Given the description of an element on the screen output the (x, y) to click on. 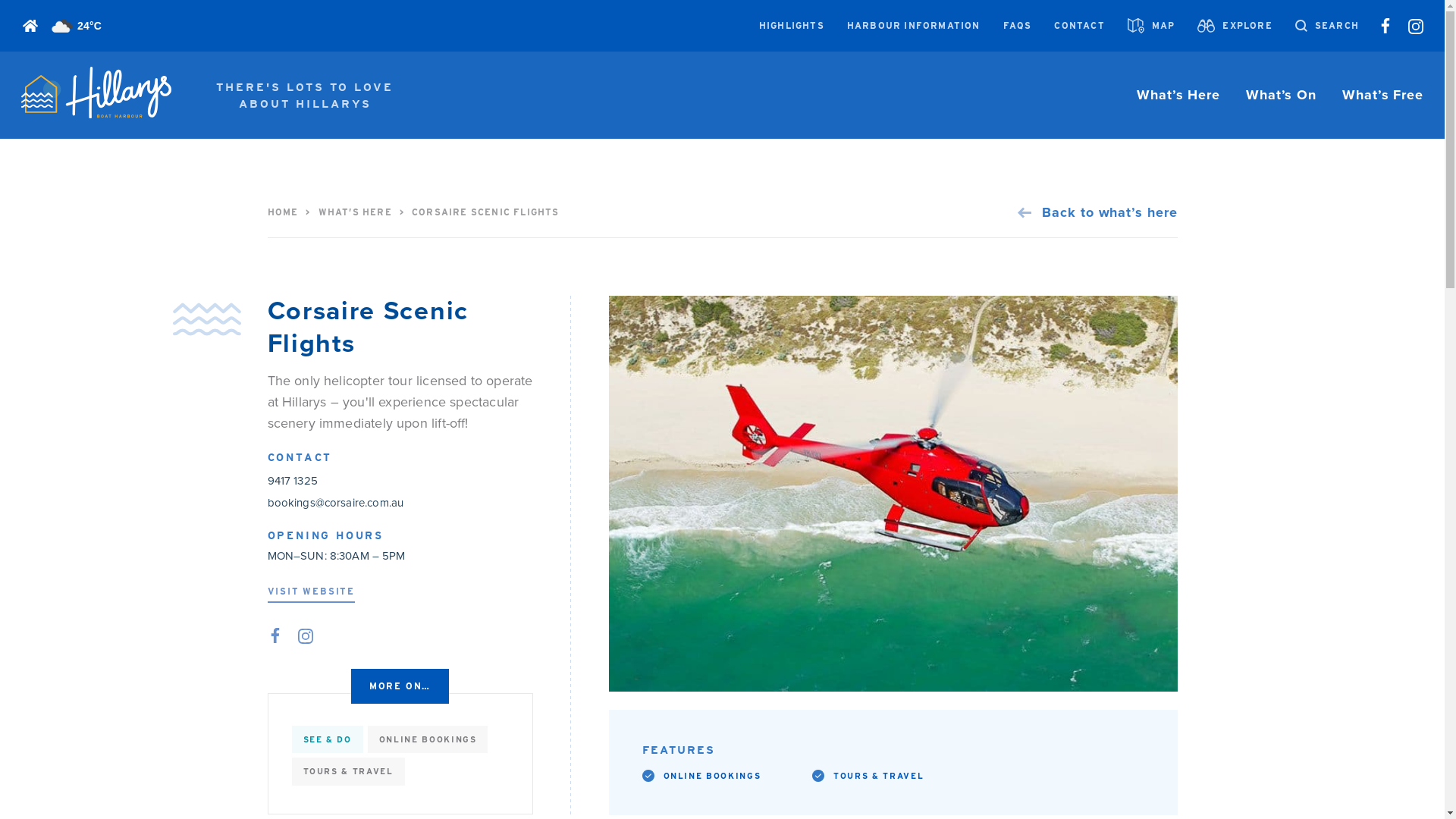
HIGHLIGHTS Element type: text (791, 25)
9417 1325 Element type: text (291, 480)
HOME Element type: text (282, 211)
bookings@corsaire.com.au Element type: text (334, 502)
TOURS & TRAVEL Element type: text (347, 771)
 on Facebook Element type: hover (1385, 25)
CONTACT Element type: text (1078, 25)
 on Instagram Element type: hover (1415, 25)
SEE & DO Element type: text (326, 739)
SEARCH Element type: text (1326, 25)
TOURS & TRAVEL Element type: text (878, 776)
Corsaire Scenic Flights on Instagram Element type: hover (304, 635)
HARBOUR INFORMATION Element type: text (913, 25)
MAP Element type: text (1151, 25)
Corsaire Scenic Flights on Facebook Element type: hover (274, 635)
Skip to content Element type: text (0, 0)
VISIT WEBSITE Element type: text (310, 593)
EXPLORE Element type: text (1234, 25)
FAQS Element type: text (1017, 25)
ONLINE BOOKINGS Element type: text (427, 739)
ONLINE BOOKINGS Element type: text (711, 776)
